Given the description of an element on the screen output the (x, y) to click on. 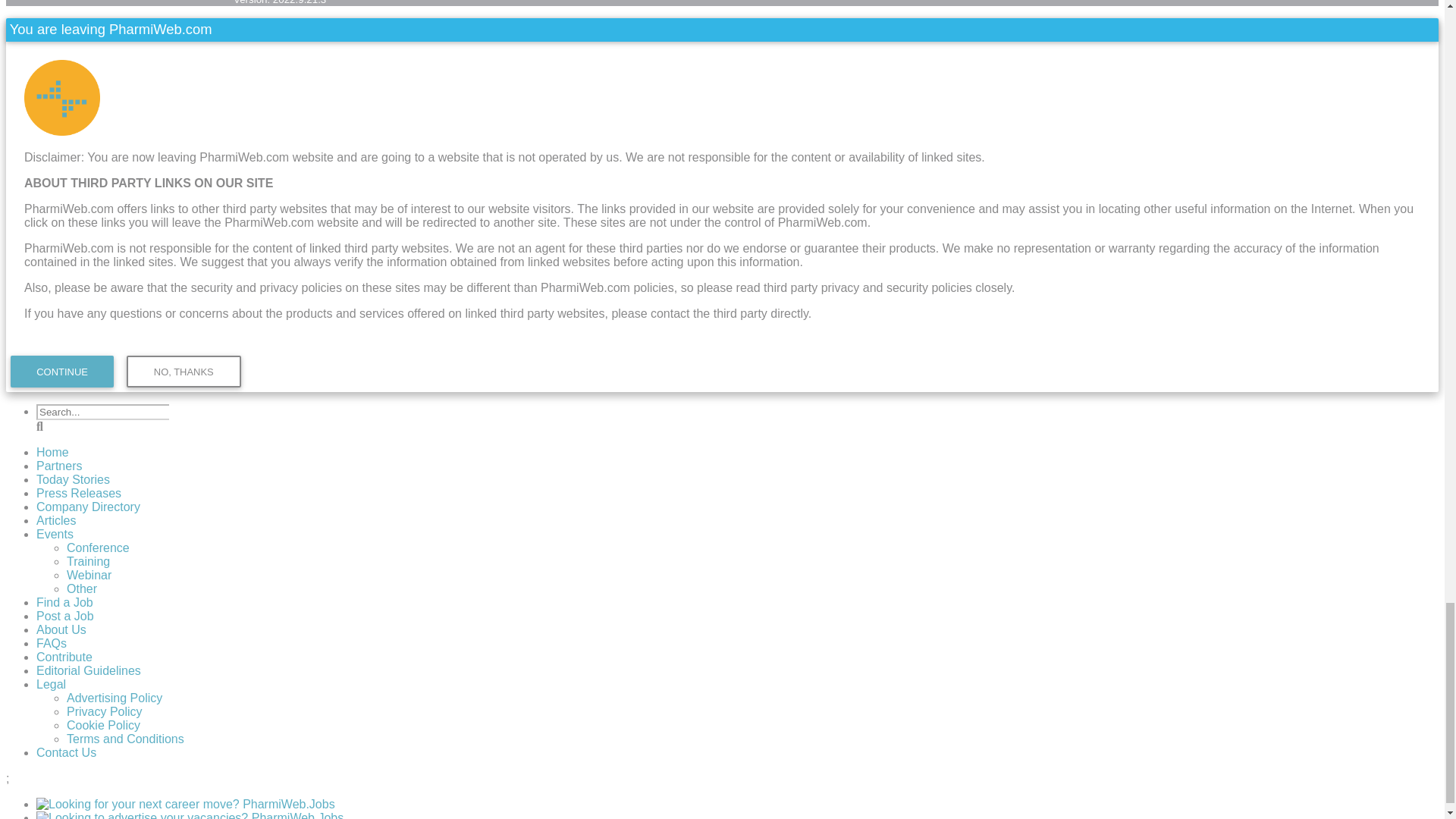
Today Stories (73, 479)
Partners (58, 465)
Press Releases (78, 492)
Home (52, 451)
CONTINUE (61, 371)
NO, THANKS (183, 370)
